Given the description of an element on the screen output the (x, y) to click on. 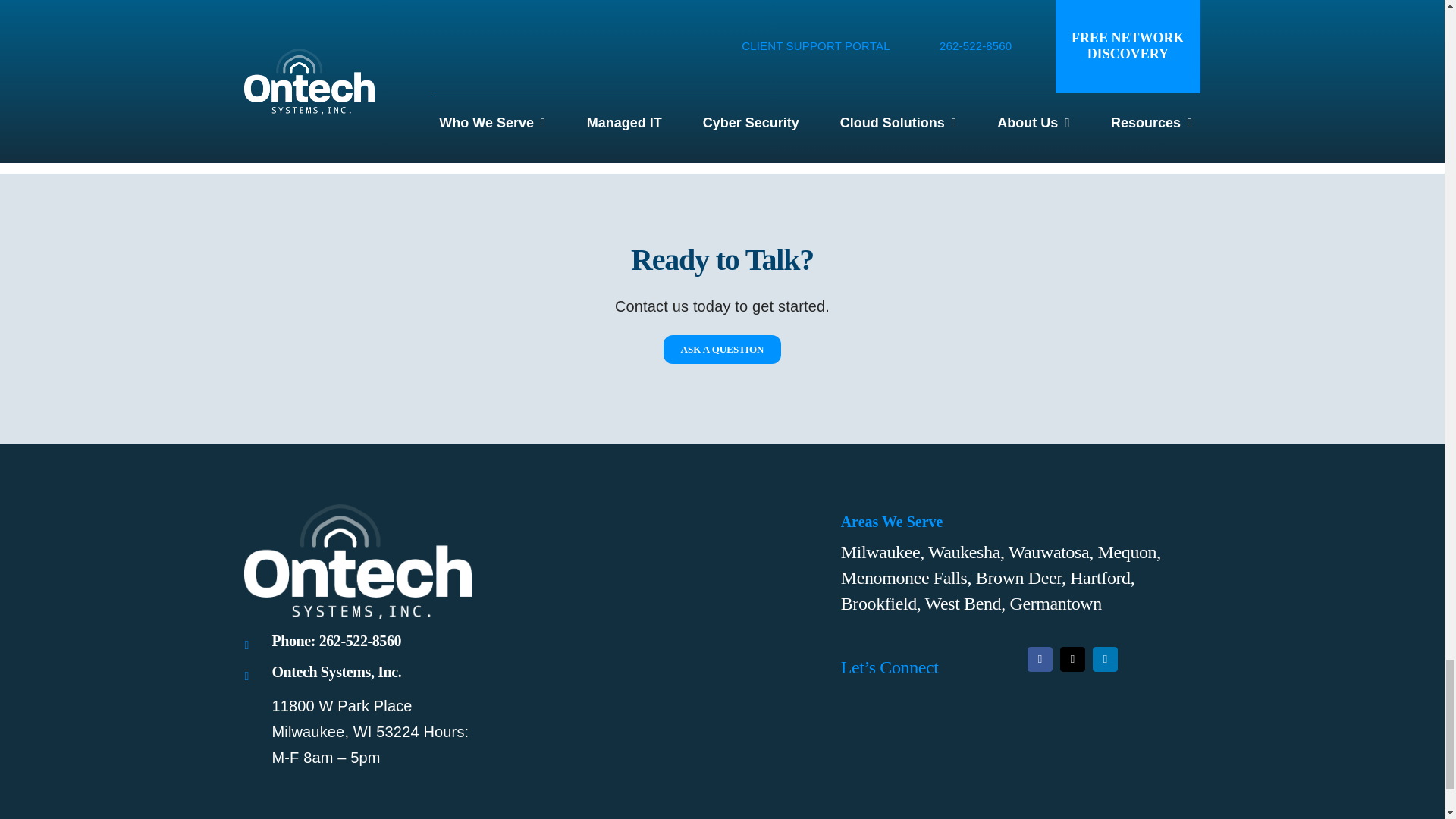
Facebook (1039, 659)
X (1071, 659)
LinkedIn (1105, 659)
